Given the description of an element on the screen output the (x, y) to click on. 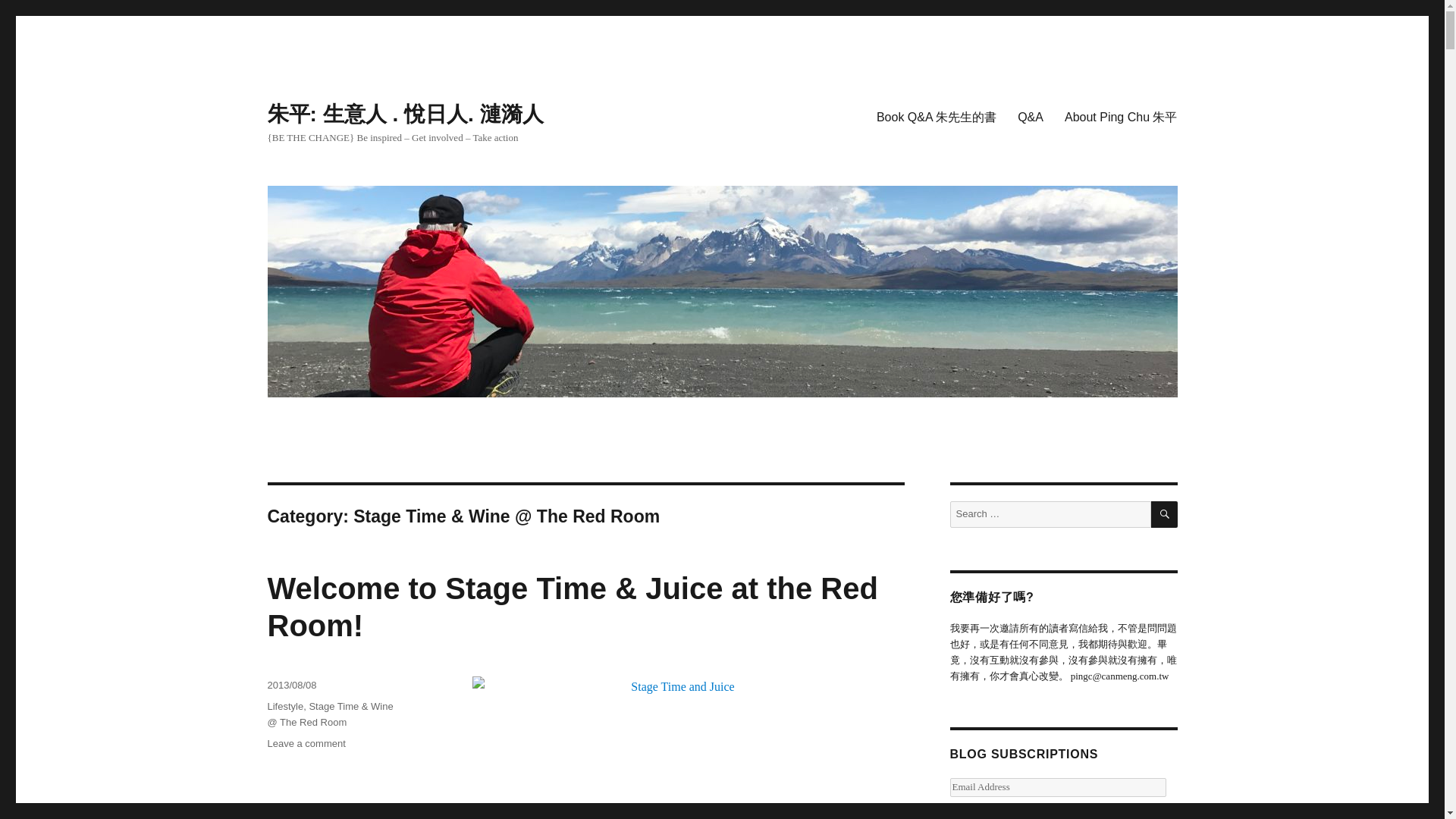
Search for: (1049, 514)
Lifestyle (284, 706)
Email Address (1057, 787)
Subscribe (988, 816)
